Given the description of an element on the screen output the (x, y) to click on. 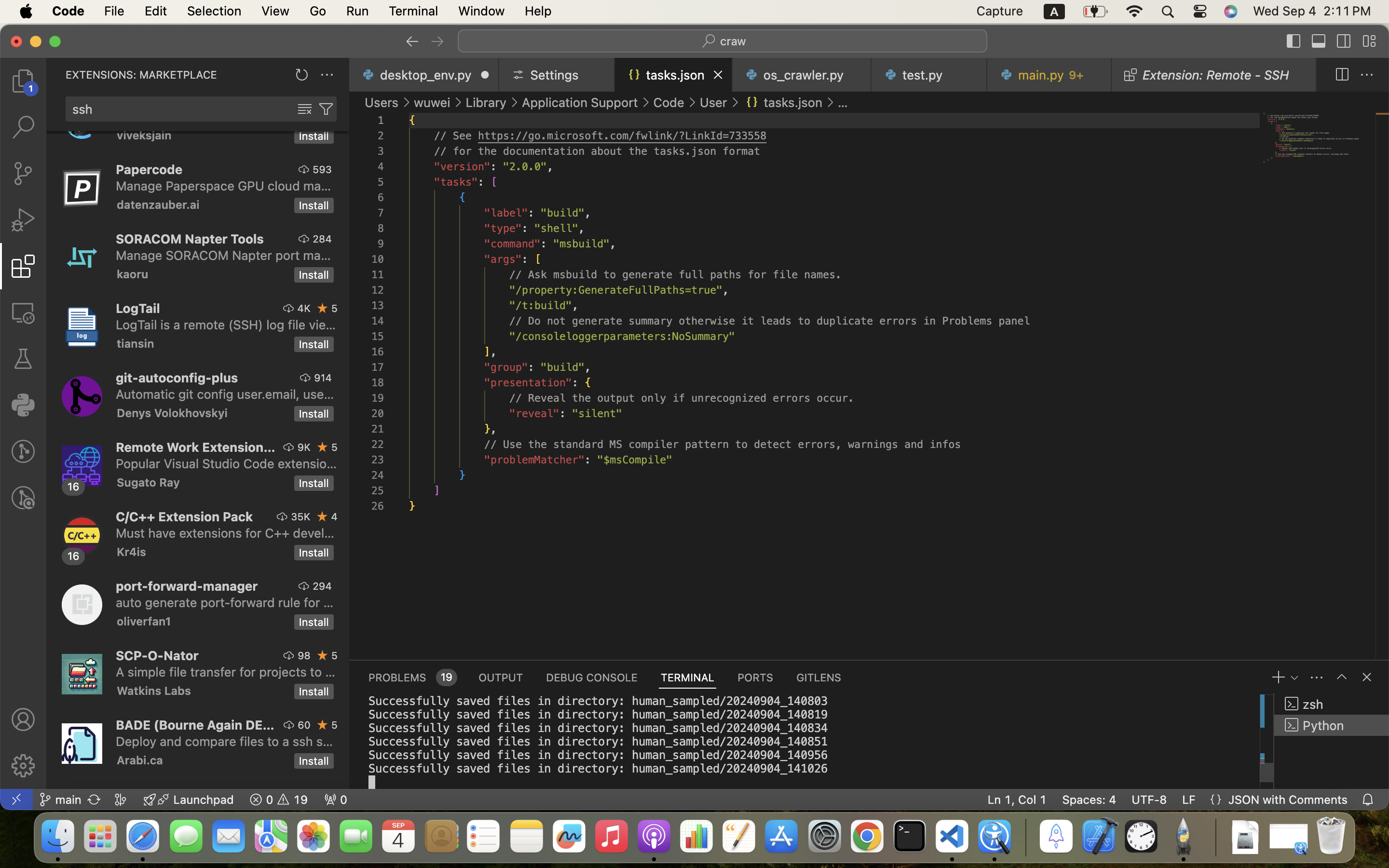
19 0   Element type: AXButton (278, 799)
0  Element type: AXRadioButton (23, 219)
 Element type: AXStaticText (322, 307)
1 TERMINAL Element type: AXRadioButton (687, 676)
 Element type: AXButton (437, 41)
